Given the description of an element on the screen output the (x, y) to click on. 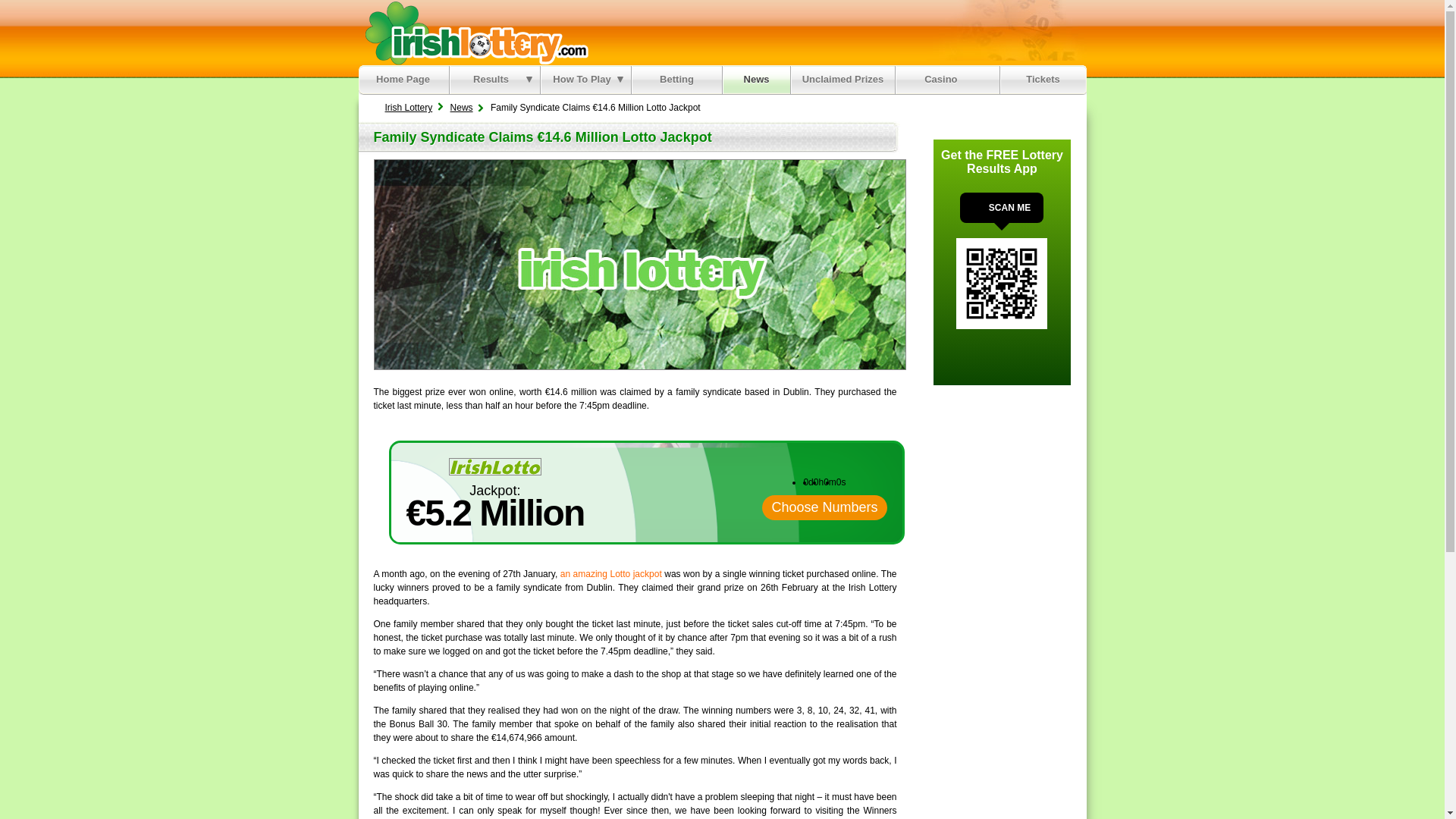
Irish Lottery (402, 80)
Unclaimed Prizes (843, 80)
How To Play (585, 80)
Get the FREE Lottery Results App (1001, 161)
Choose Numbers (823, 507)
News (756, 80)
Irish Lottery (408, 107)
How to Play the Irish Lottery (585, 80)
Tickets (1043, 80)
Home Page (402, 80)
Irish Lottery Results (494, 80)
Irish Lottery (473, 32)
News (461, 107)
Results (494, 80)
Casino   (947, 80)
